Given the description of an element on the screen output the (x, y) to click on. 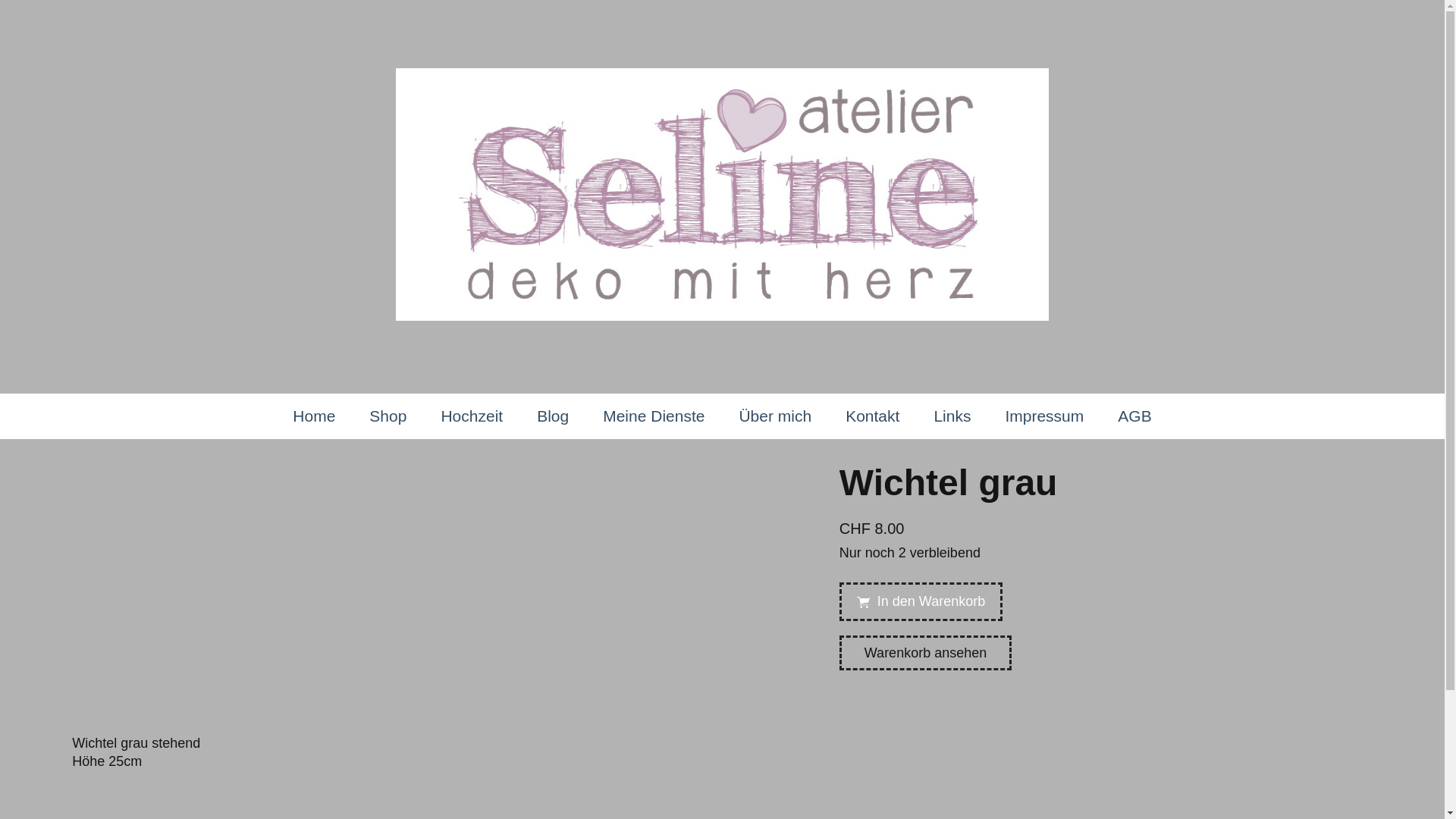
Wichtel grau Element type: hover (429, 463)
AGB Element type: text (1134, 416)
Warenkorb ansehen Element type: text (925, 652)
Shop Element type: text (387, 416)
Links Element type: text (951, 416)
Hochzeit Element type: text (471, 416)
Blog Element type: text (552, 416)
Impressum Element type: text (1043, 416)
Meine Dienste Element type: text (653, 416)
Home Element type: text (313, 416)
Kontakt Element type: text (872, 416)
In den Warenkorb Element type: text (920, 601)
